Given the description of an element on the screen output the (x, y) to click on. 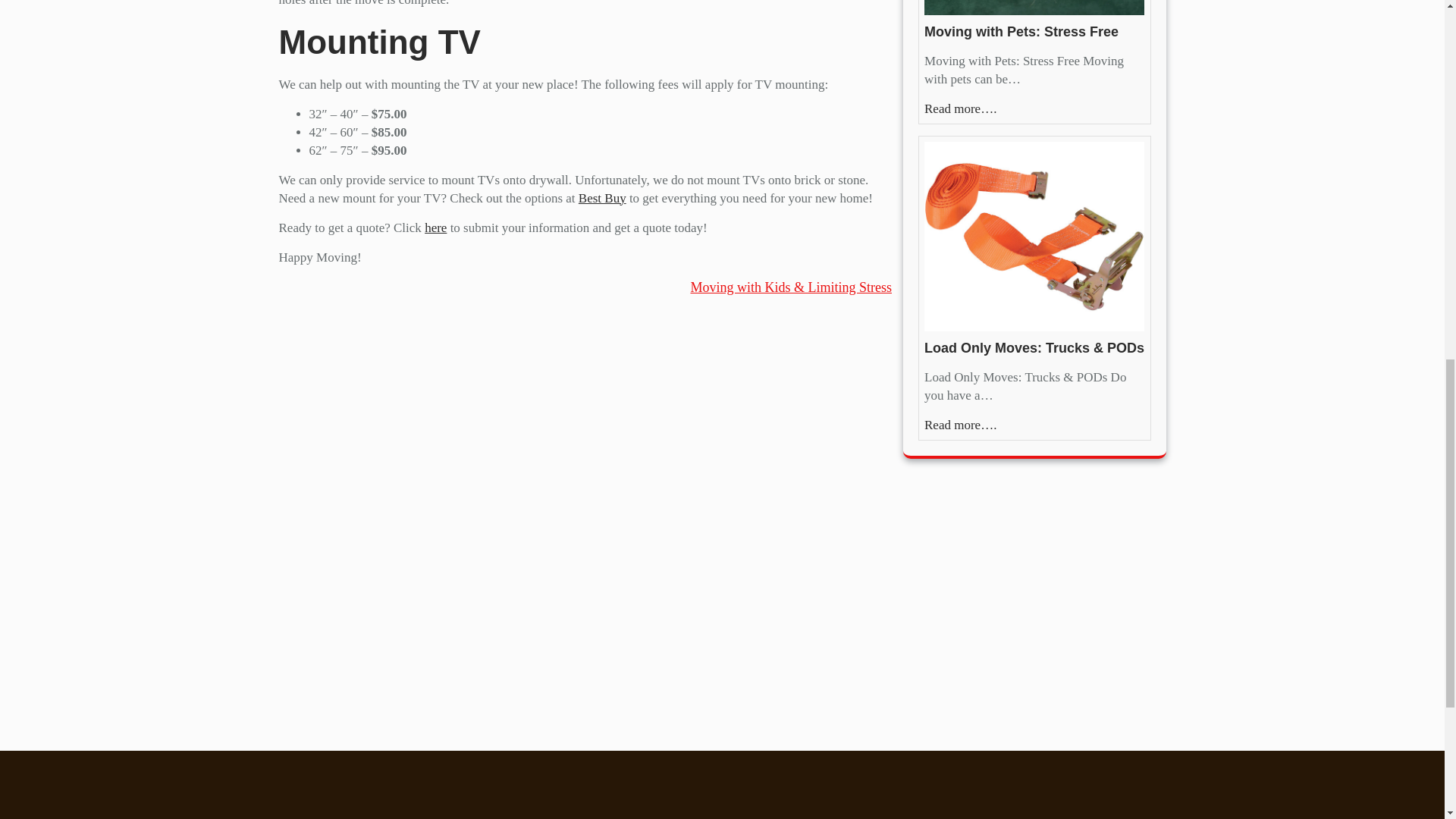
Best Buy (602, 197)
Moving with Pets: Stress Free (1021, 31)
here (435, 227)
here (435, 227)
